Given the description of an element on the screen output the (x, y) to click on. 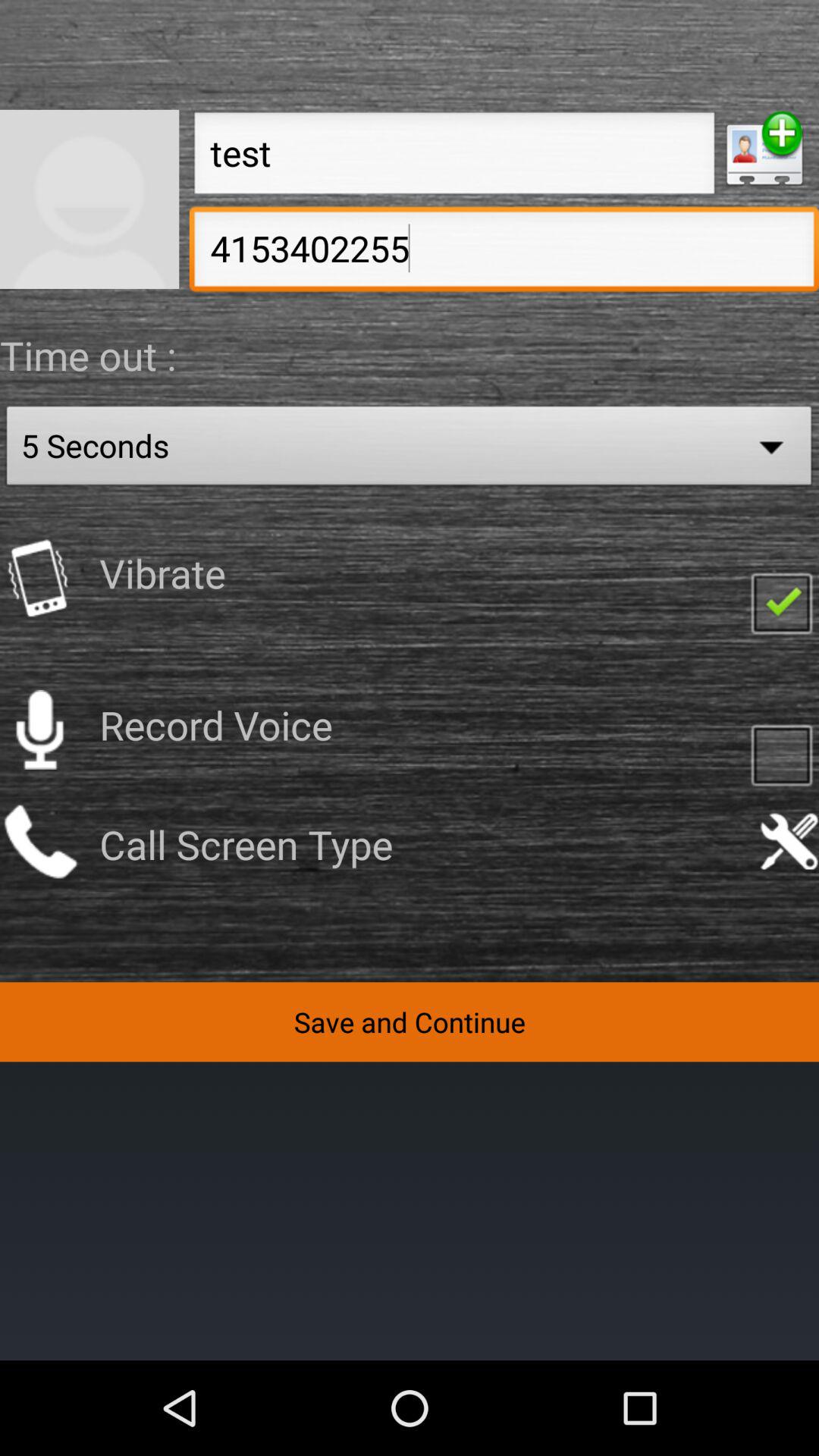
change profile picture (89, 198)
